Given the description of an element on the screen output the (x, y) to click on. 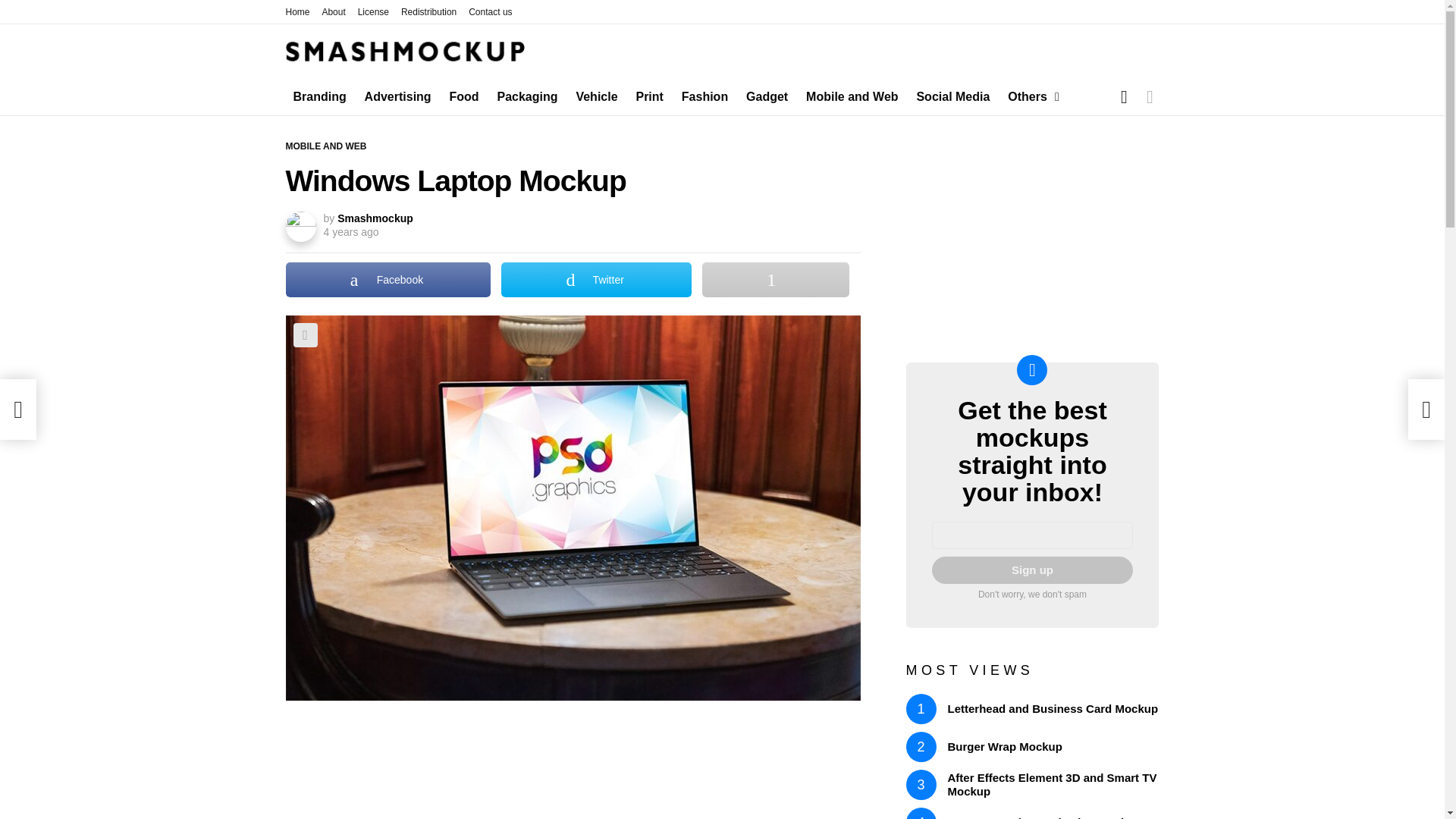
Smashmockup (375, 218)
Sign up (1031, 569)
Fashion (704, 96)
SEARCH (1123, 96)
Advertisement (572, 767)
Share on Twitter (595, 279)
Posts by Smashmockup (375, 218)
Others (1029, 96)
Twitter (595, 279)
SWITCH SKIN (1149, 96)
Packaging (527, 96)
Redistribution (429, 12)
MOBILE AND WEB (328, 145)
Share on More Button (774, 279)
Contact us (490, 12)
